Given the description of an element on the screen output the (x, y) to click on. 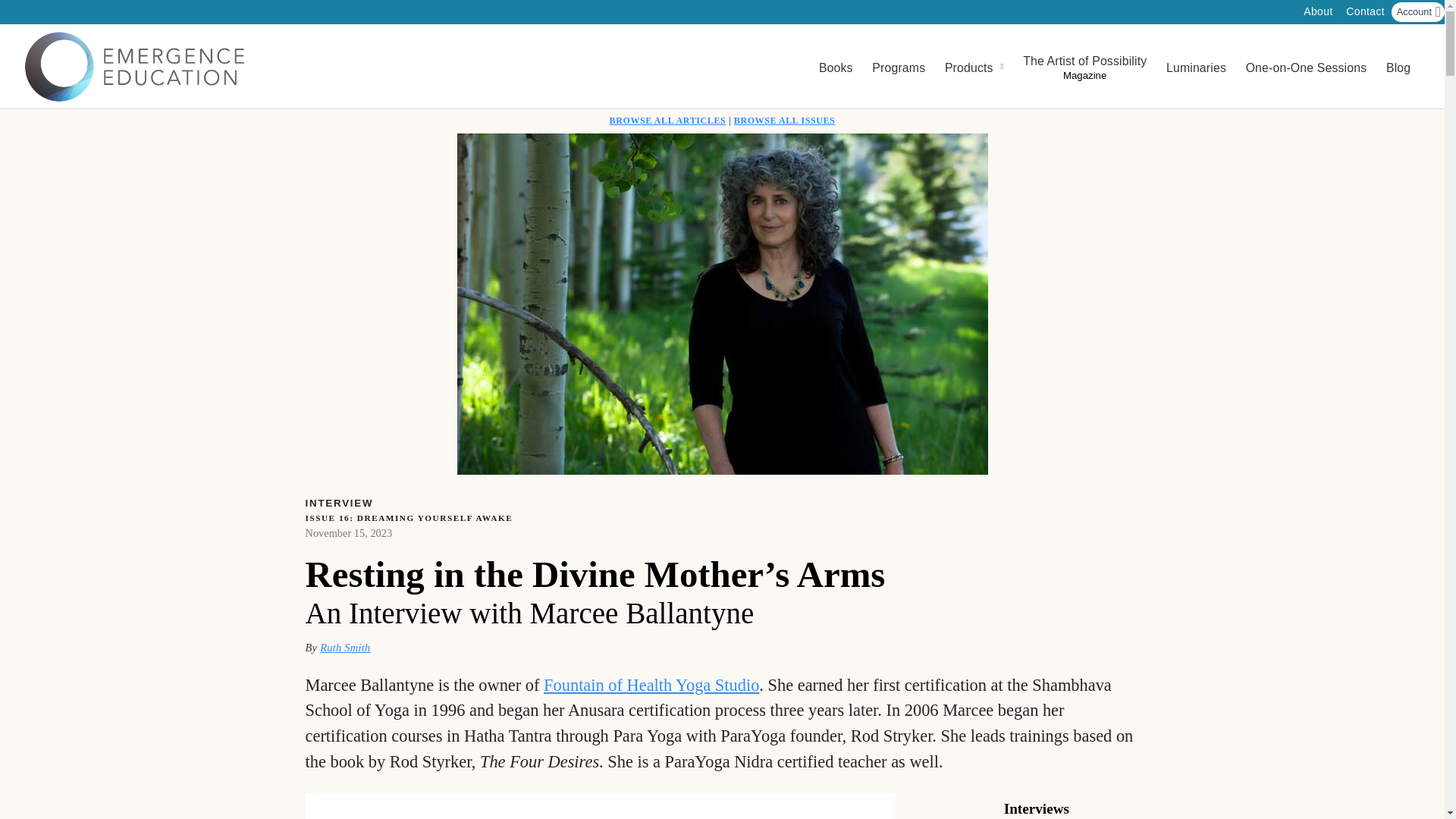
Products (973, 66)
Ruth Smith (344, 647)
BROWSE ALL ARTICLES (668, 120)
Contact (1364, 15)
Blog (1398, 66)
Programs (897, 66)
Books (835, 66)
BROWSE ALL ISSUES (784, 120)
INTERVIEW (337, 503)
About (1318, 15)
